Given the description of an element on the screen output the (x, y) to click on. 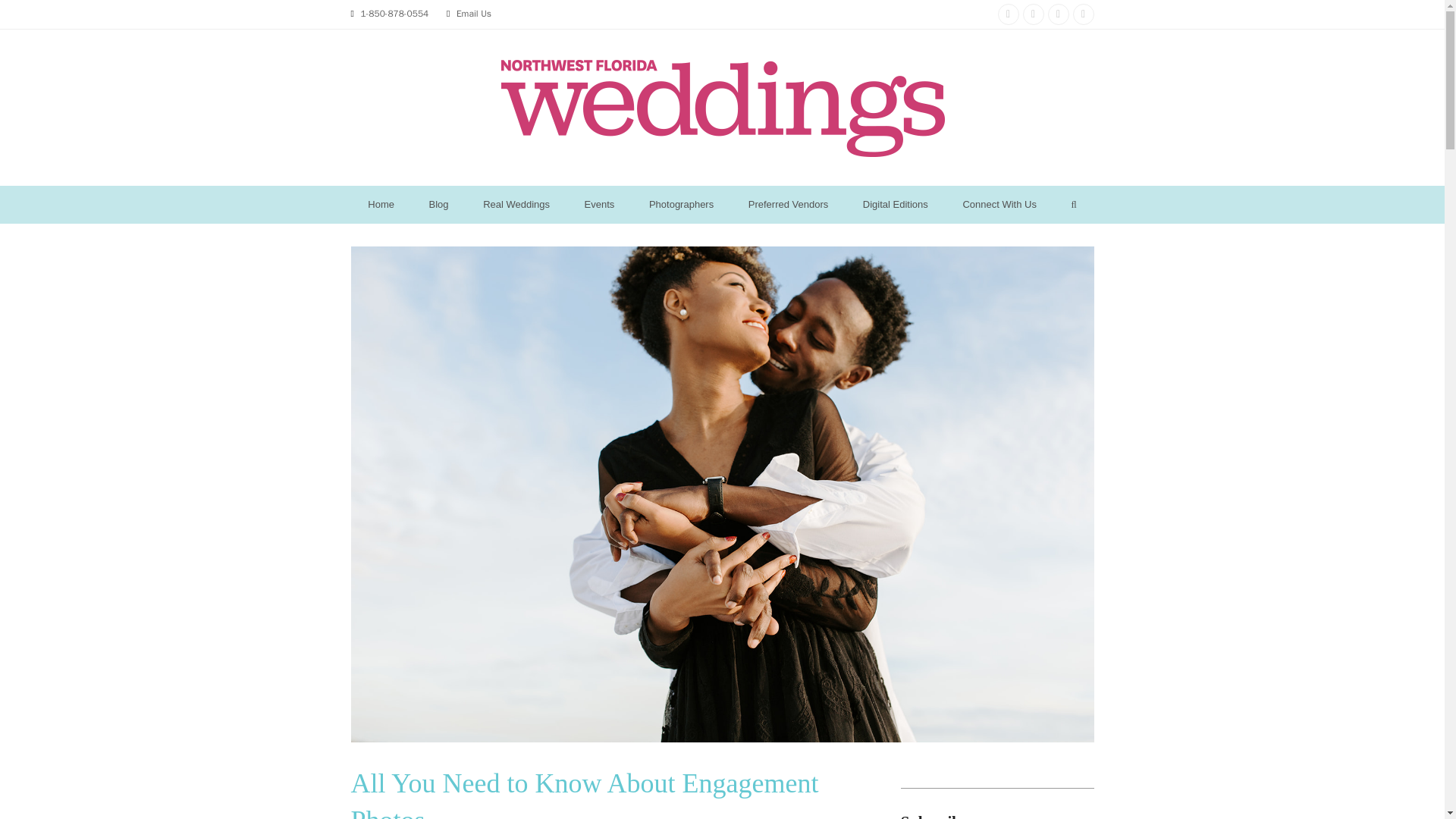
Photographers (680, 204)
Preferred Vendors (787, 204)
Pinterest (1058, 14)
Facebook (1032, 14)
Events (599, 204)
Instagram (1008, 14)
Blog (438, 204)
Facebook (1032, 14)
Instagram (1008, 14)
Home (380, 204)
Digital Editions (894, 204)
Twitter (1082, 14)
Email Us (474, 13)
Connect With Us (999, 204)
Real Weddings (515, 204)
